Given the description of an element on the screen output the (x, y) to click on. 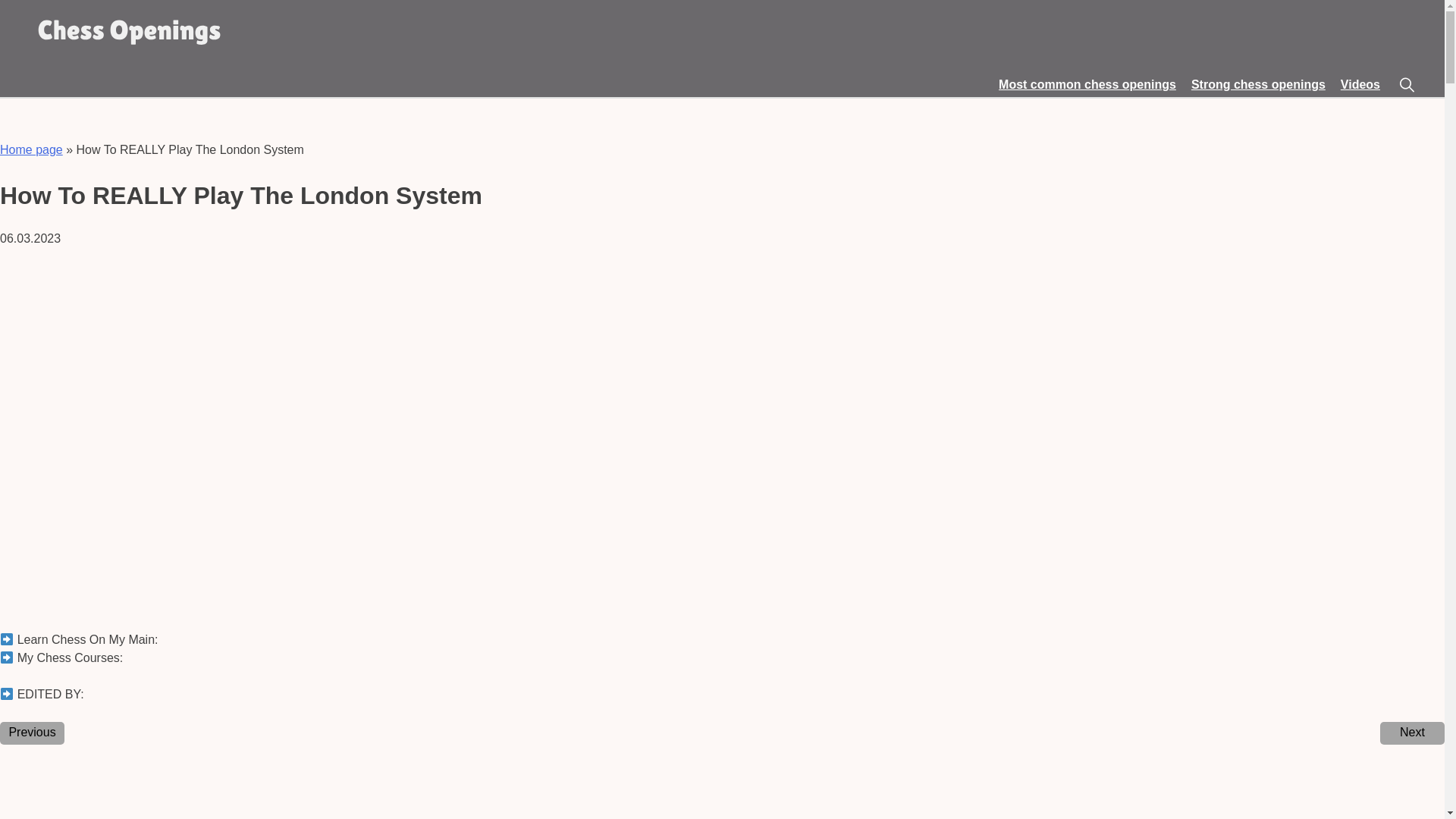
Home page (31, 149)
Strong chess openings (1257, 83)
Previous (32, 732)
Videos (1360, 83)
Most common chess openings (1087, 83)
